Given the description of an element on the screen output the (x, y) to click on. 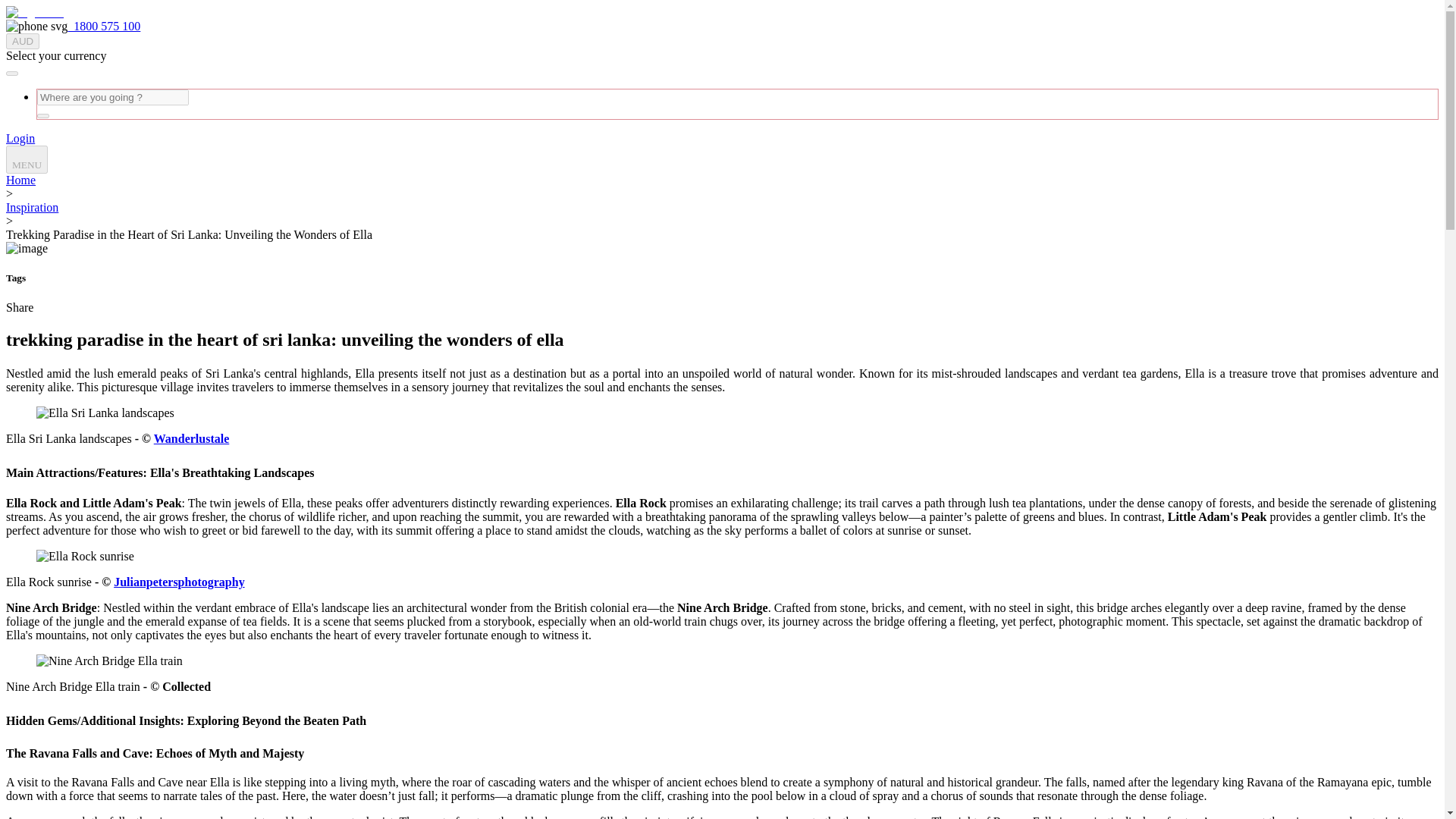
MENU (26, 159)
Julianpetersphotography (178, 581)
Home (19, 179)
Inspiration (31, 206)
AUD (22, 41)
Login (19, 137)
  1800 575 100 (102, 25)
Wanderlustale (192, 438)
